Given the description of an element on the screen output the (x, y) to click on. 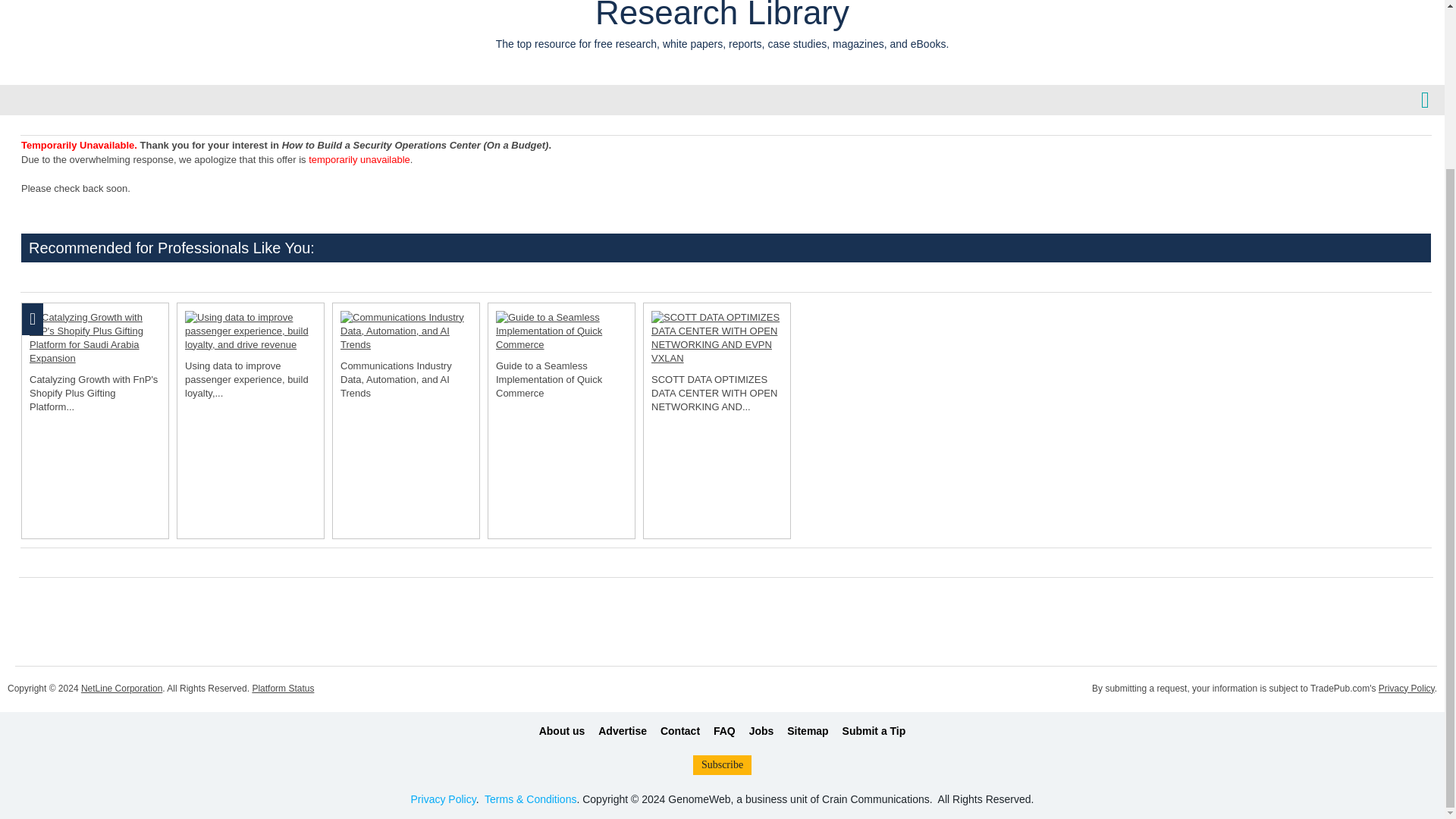
Privacy Policy (443, 799)
Get answers to frequently-asked questions. (724, 730)
Terms and conditions (530, 799)
A text sitemap of the website. (807, 730)
